Given the description of an element on the screen output the (x, y) to click on. 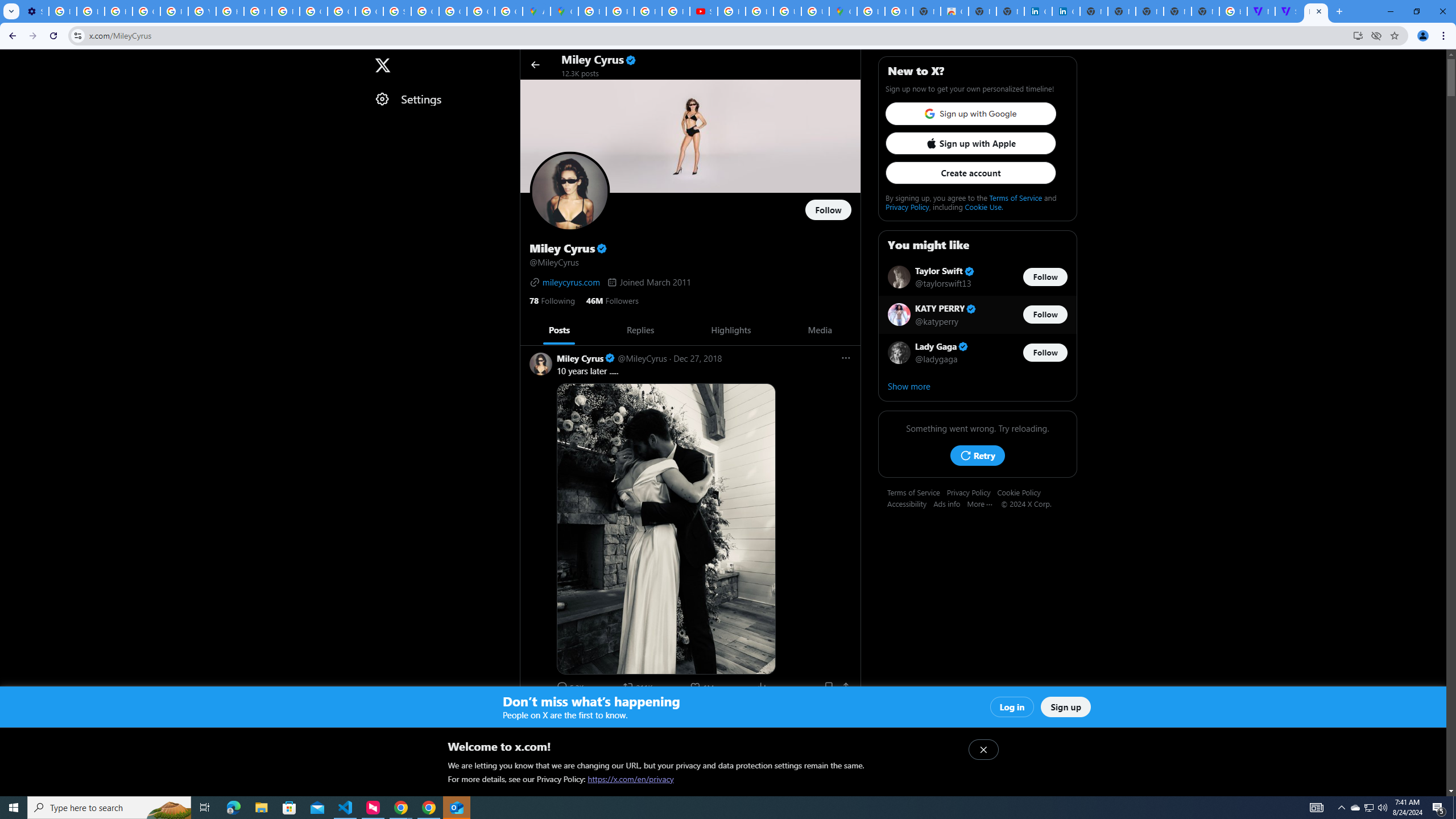
Privacy Help Center - Policies Help (620, 11)
mileycyrus.com (564, 281)
Lady Gaga Verified account @ladygaga Follow @ladygaga (977, 352)
Sign in - Google Accounts (397, 11)
YouTube (202, 11)
Follow @katyperry (1045, 314)
Lady Gaga Verified account (942, 345)
Privacy Help Center - Policies Help (174, 11)
Create account (970, 172)
X (382, 65)
